Given the description of an element on the screen output the (x, y) to click on. 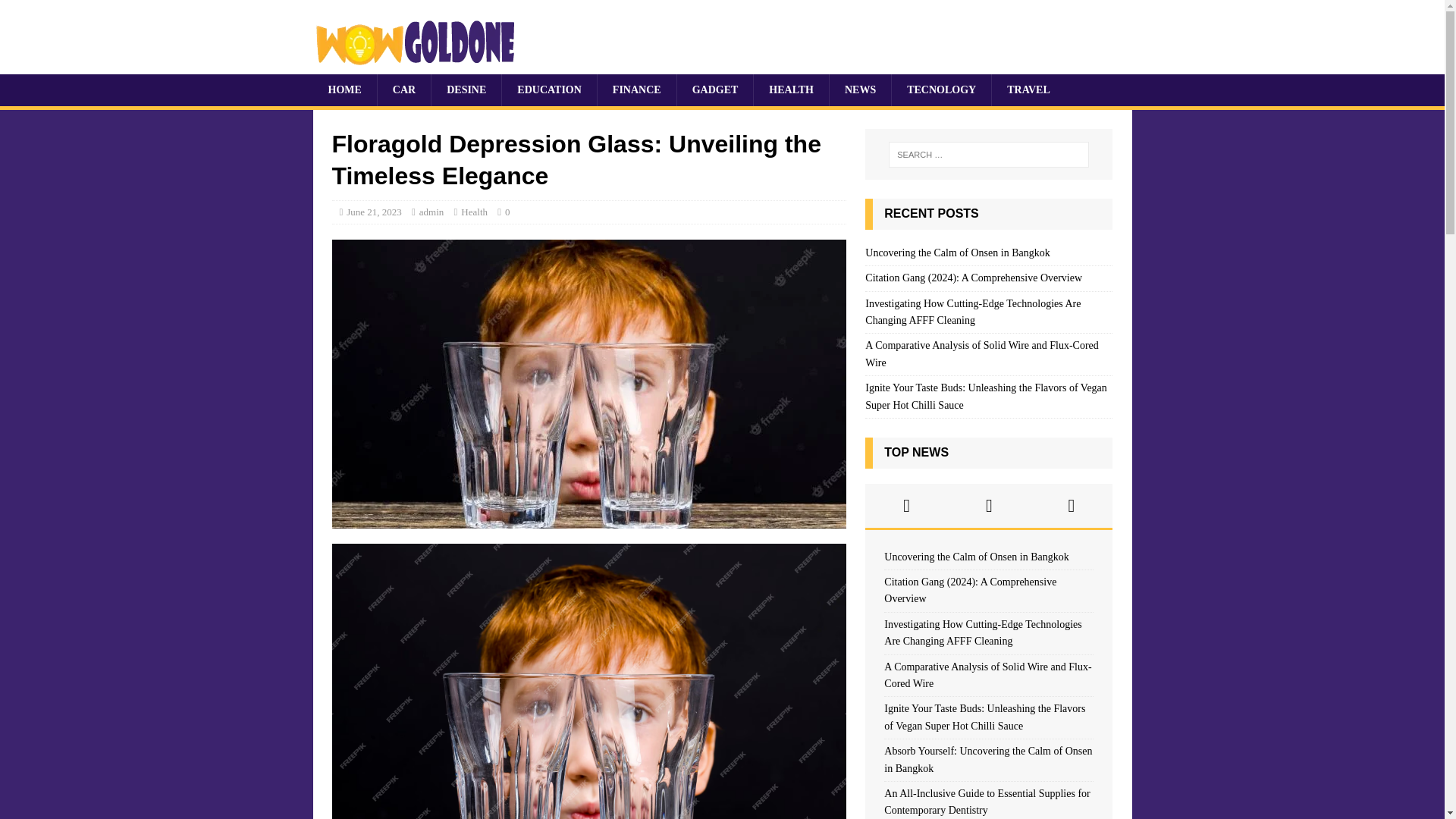
admin (431, 211)
DESINE (465, 90)
Health (474, 211)
CAR (403, 90)
wowgoldone (418, 65)
TRAVEL (1028, 90)
NEWS (859, 90)
TECNOLOGY (941, 90)
HOME (344, 90)
EDUCATION (548, 90)
FINANCE (636, 90)
HEALTH (790, 90)
June 21, 2023 (373, 211)
GADGET (715, 90)
